Given the description of an element on the screen output the (x, y) to click on. 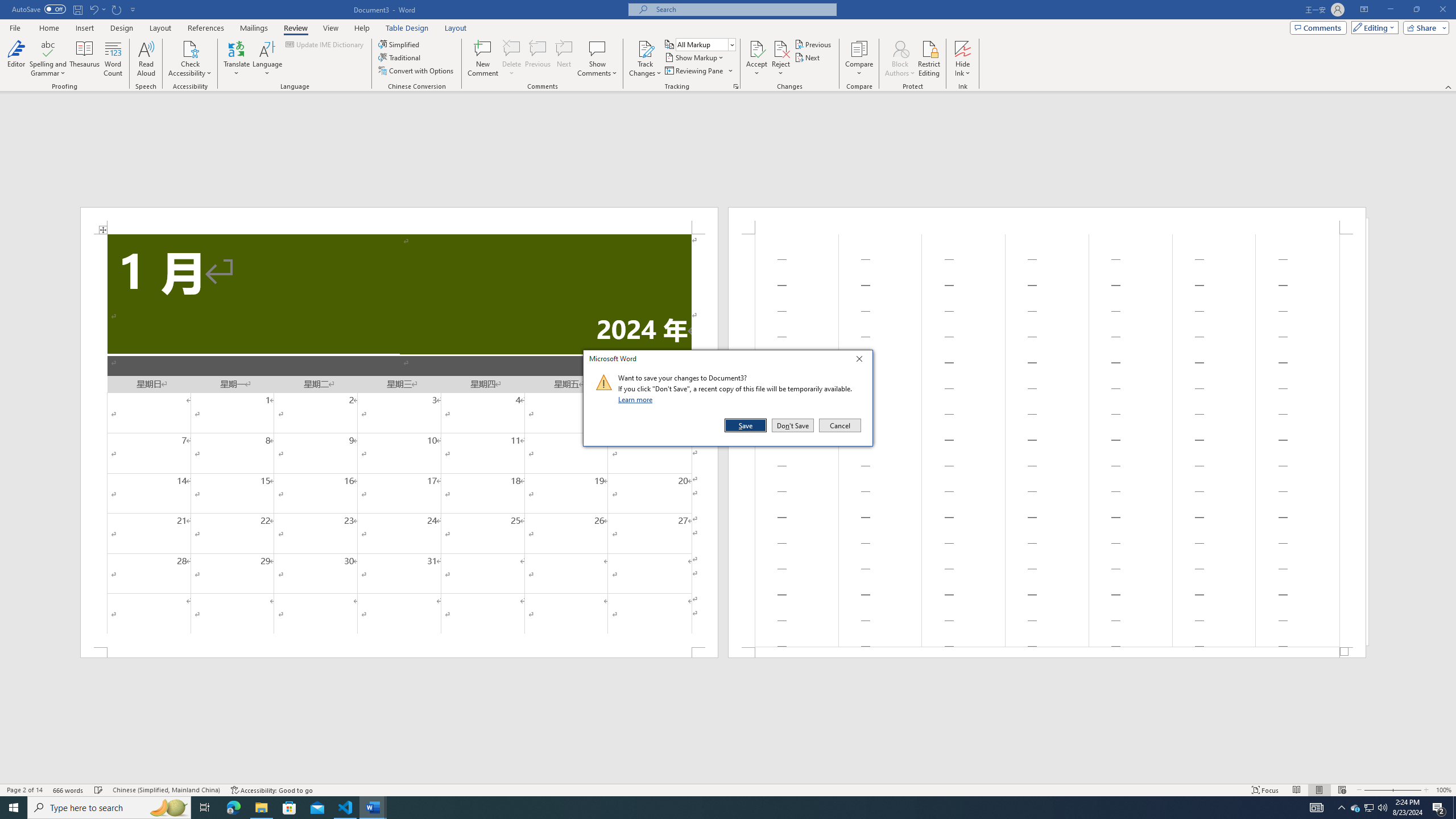
Track Changes (644, 58)
Undo Apply Quick Style (92, 9)
Show Comments (597, 48)
Translate (236, 58)
